Given the description of an element on the screen output the (x, y) to click on. 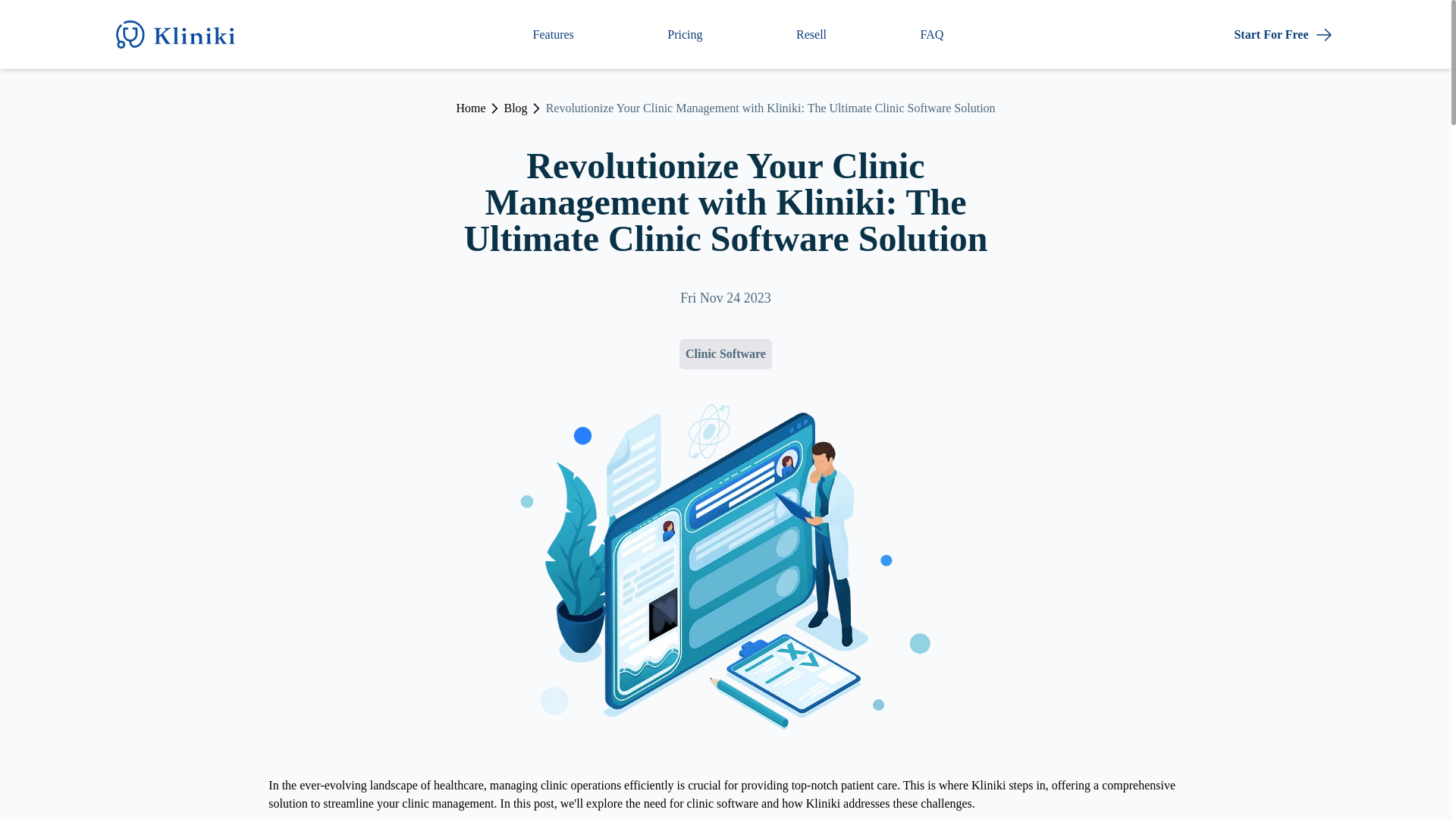
View the Pricing section (683, 34)
Click to go to the blog page (515, 108)
FAQ (931, 34)
Start For Free (1283, 34)
Clinic Software (725, 354)
Click to go to the Resellers page (811, 34)
Click to go to the home page (469, 108)
Home (469, 108)
Features (552, 34)
View the Frequently Asked Questions section (931, 34)
Click to go to the home page (180, 34)
Resell (811, 34)
Pricing (683, 34)
Blog (515, 108)
Click to get started for free (1283, 34)
